Given the description of an element on the screen output the (x, y) to click on. 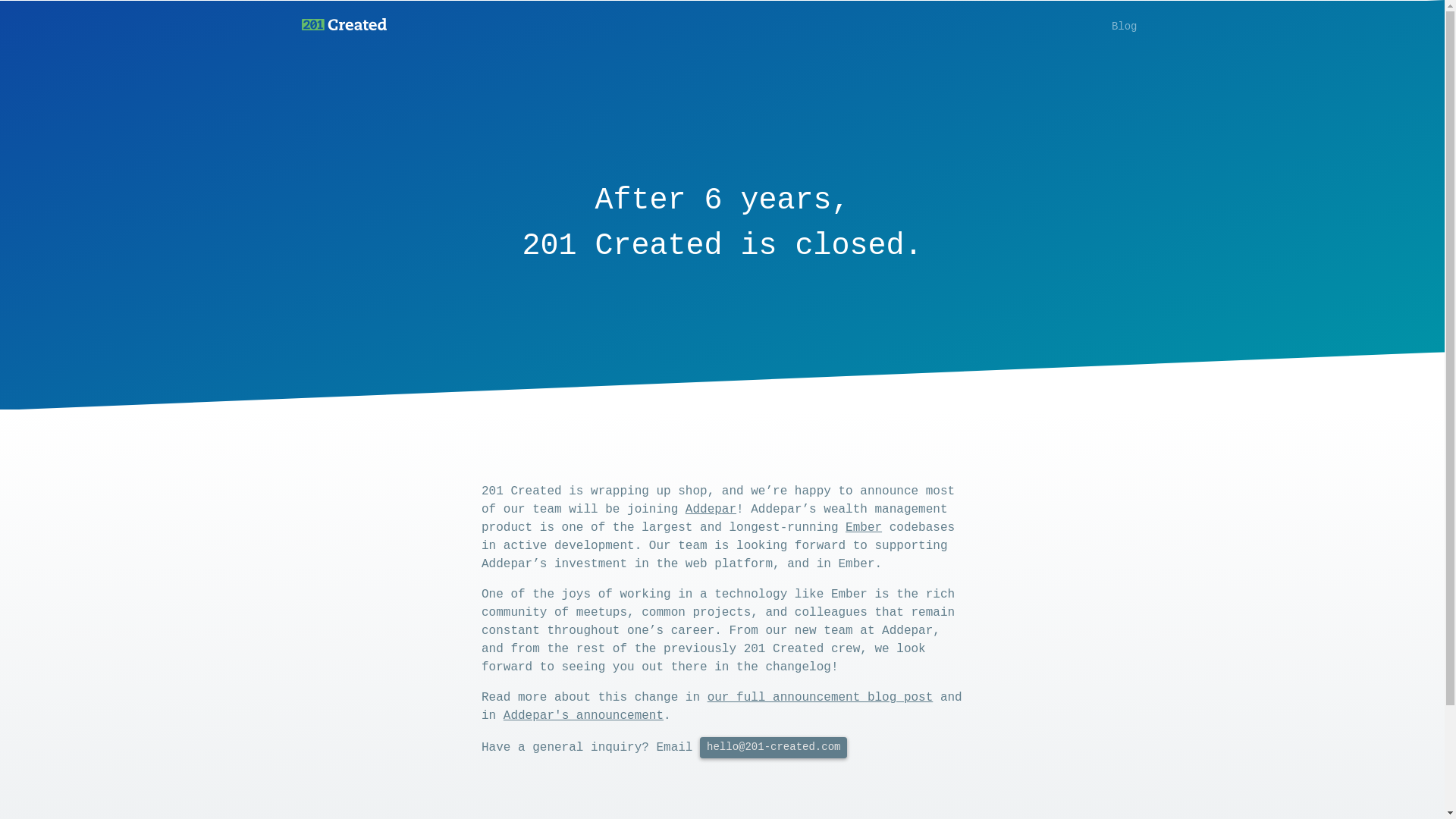
Addepar Element type: text (710, 509)
201 Created Element type: text (343, 26)
Addepar's announcement Element type: text (583, 715)
our full announcement blog post Element type: text (820, 697)
Ember Element type: text (863, 527)
Blog Element type: text (1124, 26)
hello@201-created.com Element type: text (773, 747)
